Given the description of an element on the screen output the (x, y) to click on. 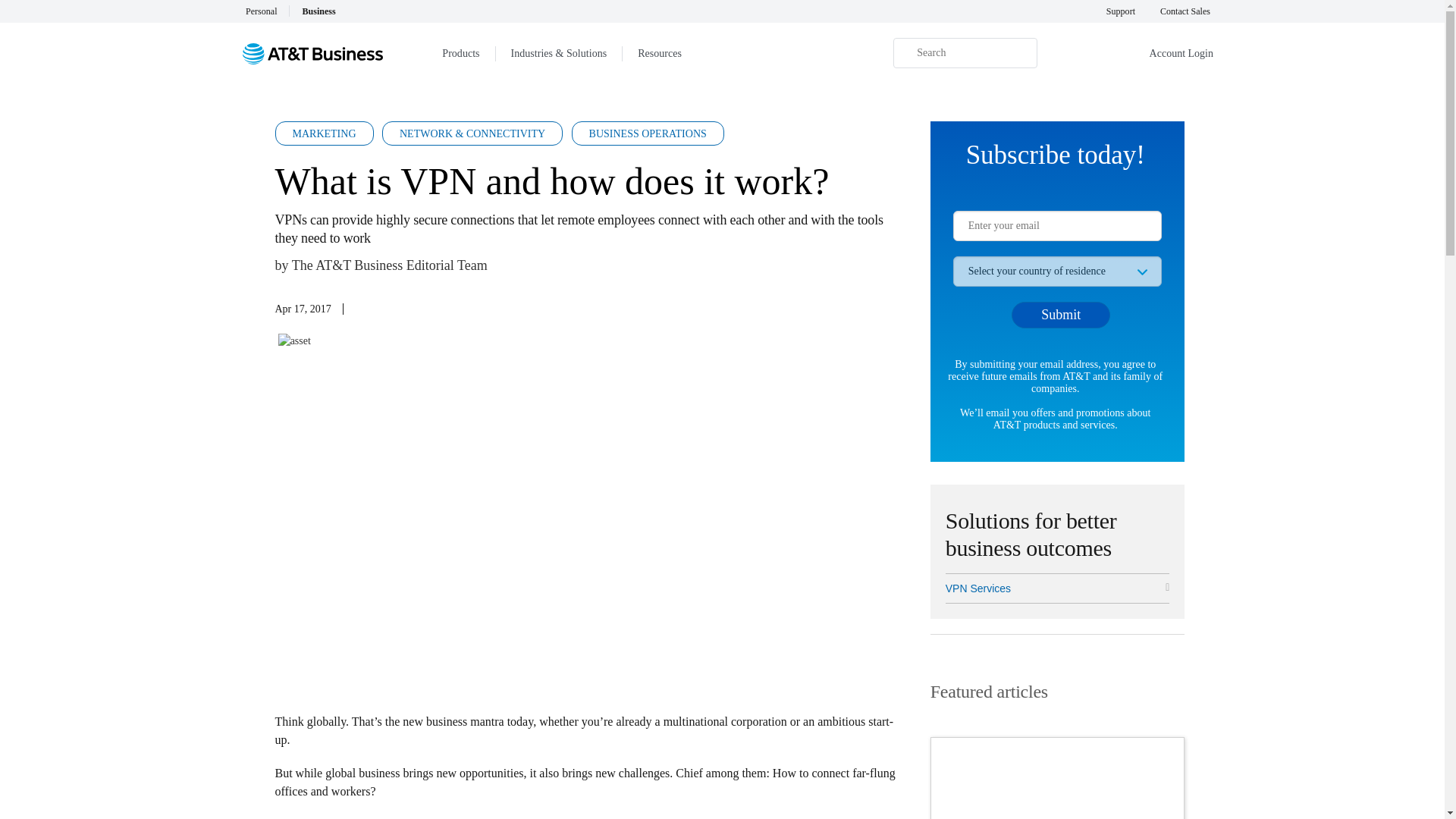
Account Login (1181, 53)
Support (1120, 10)
Business (324, 10)
Personal (267, 10)
Products (460, 53)
Open in a new window (1057, 588)
Contact Sales (1184, 10)
Search (964, 52)
Resources (660, 53)
